Given the description of an element on the screen output the (x, y) to click on. 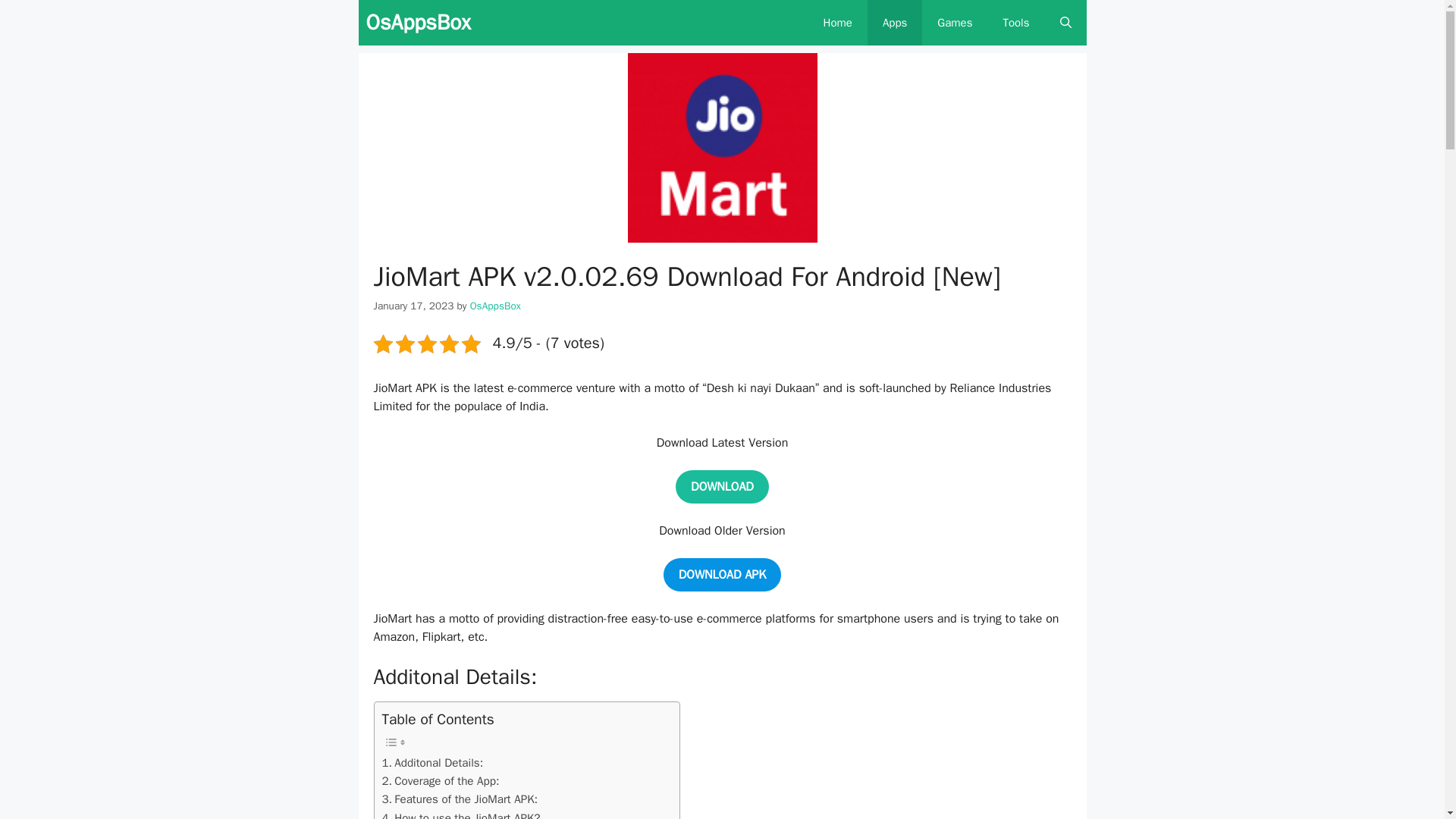
Coverage of the App: (440, 781)
OsAppsBox (495, 305)
How to use the JioMart APK? (460, 814)
How to use the JioMart APK? (460, 814)
Games (954, 22)
Additonal Details: (432, 762)
Coverage of the App: (440, 781)
Features of the JioMart APK: (459, 799)
DOWNLOAD APK (721, 574)
Additonal Details: (432, 762)
Apps (894, 22)
Home (837, 22)
Tools (1015, 22)
View all posts by OsAppsBox (495, 305)
DOWNLOAD (721, 486)
